Given the description of an element on the screen output the (x, y) to click on. 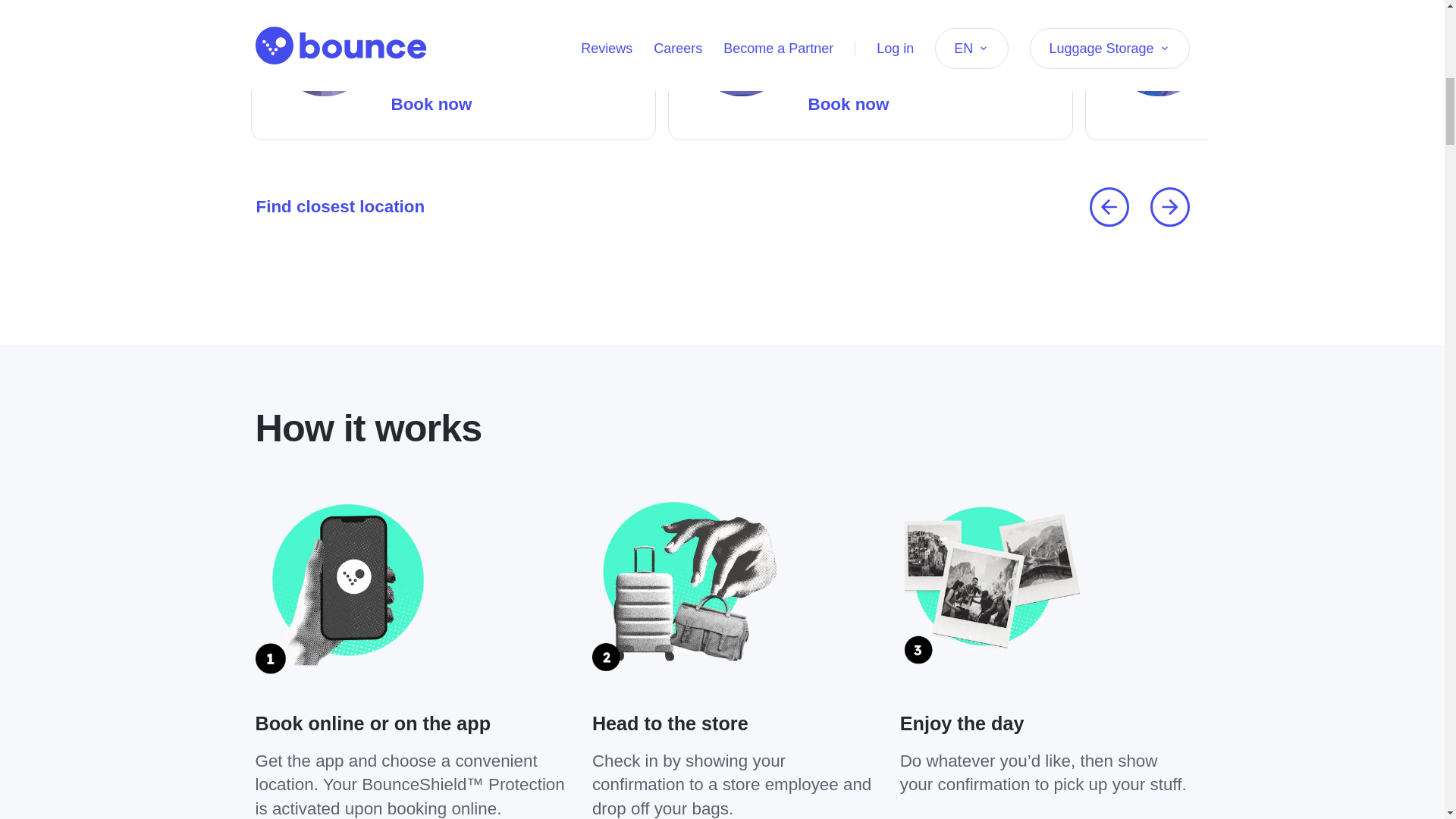
Find closest location (339, 206)
